Given the description of an element on the screen output the (x, y) to click on. 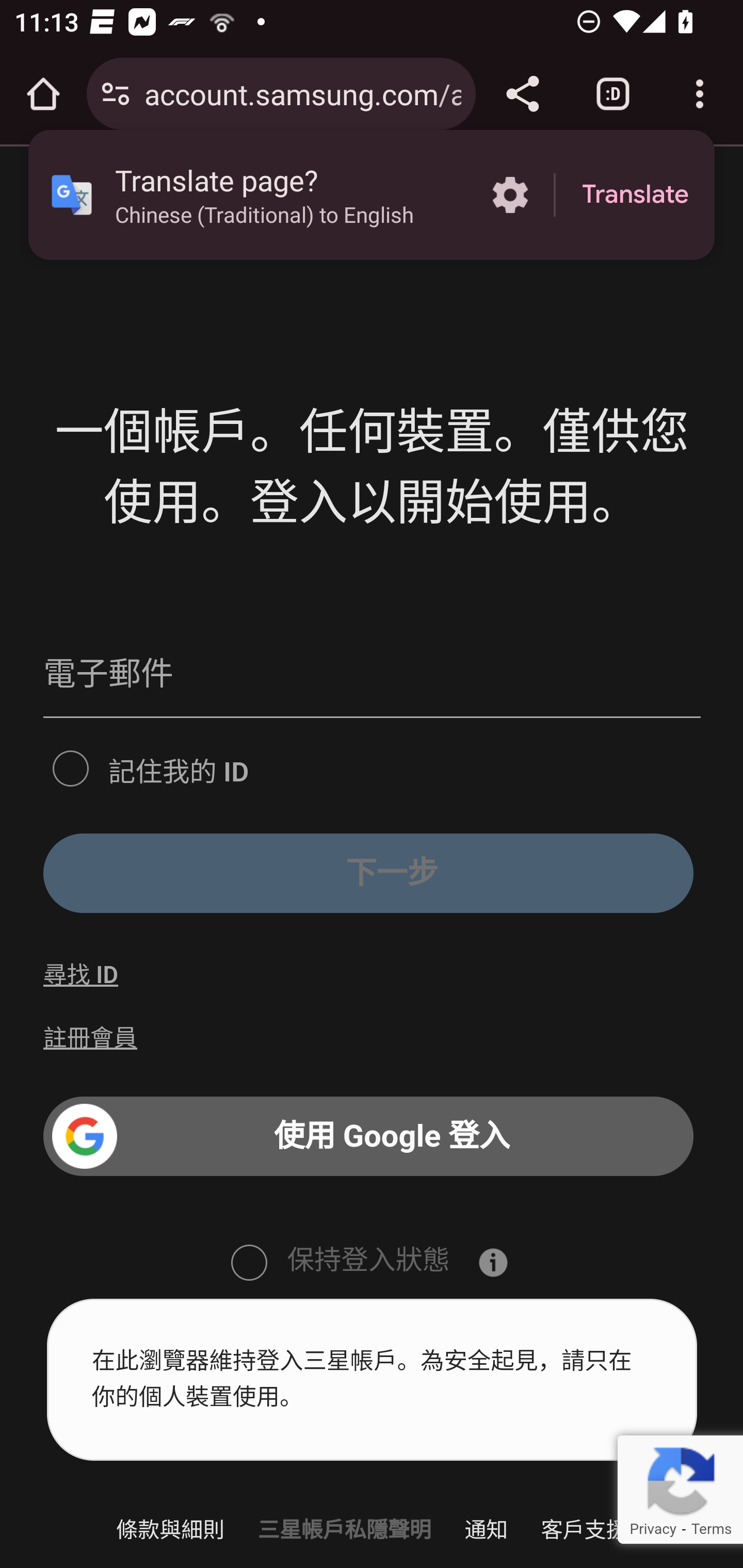
Open the home page (43, 93)
Connection is secure (115, 93)
Share (522, 93)
Switch or close tabs (612, 93)
Customize and control Google Chrome (699, 93)
Translate (634, 195)
More options in the Translate page? (509, 195)
記住我的 ID (70, 766)
下一步 (368, 873)
尋找 ID (80, 974)
註冊會員 (90, 1037)
使用 Google 登入 (368, 1136)
information (492, 1262)
保持登入狀態 (247, 1260)
三星帳戶私隱聲明 (343, 1529)
通知 (486, 1529)
客戶支援 (583, 1529)
Privacy (652, 1528)
Terms (711, 1528)
